Given the description of an element on the screen output the (x, y) to click on. 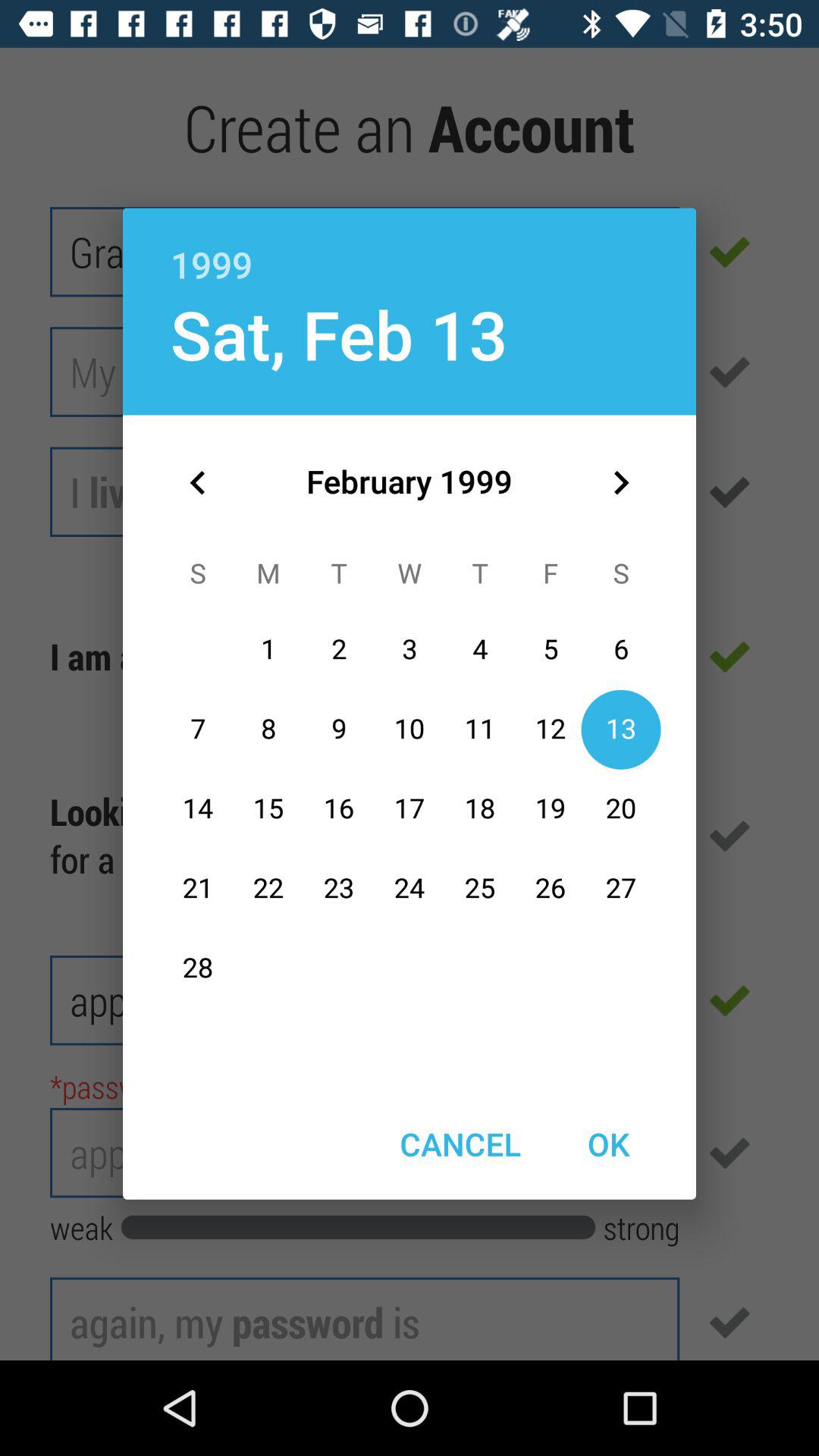
choose the 1999 (409, 248)
